Given the description of an element on the screen output the (x, y) to click on. 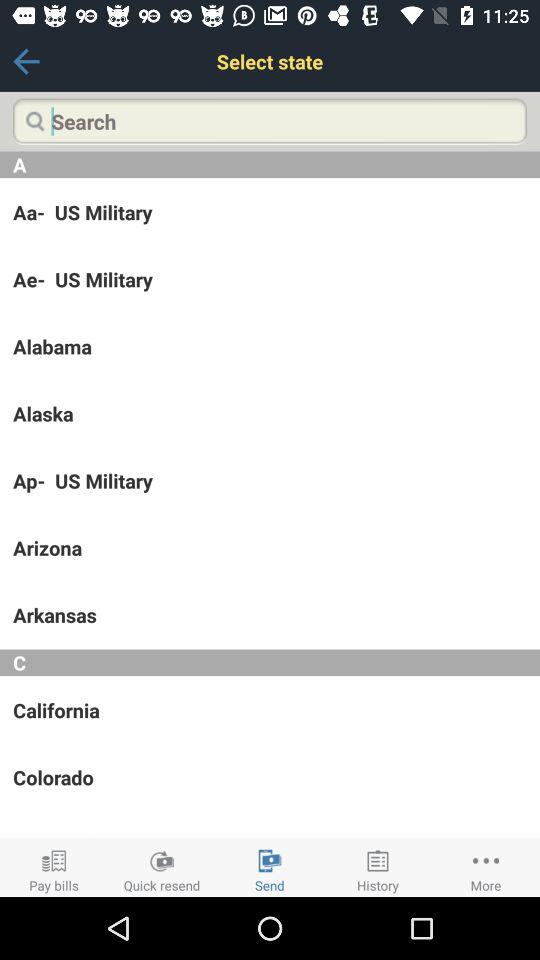
tap app below alabama (270, 413)
